Given the description of an element on the screen output the (x, y) to click on. 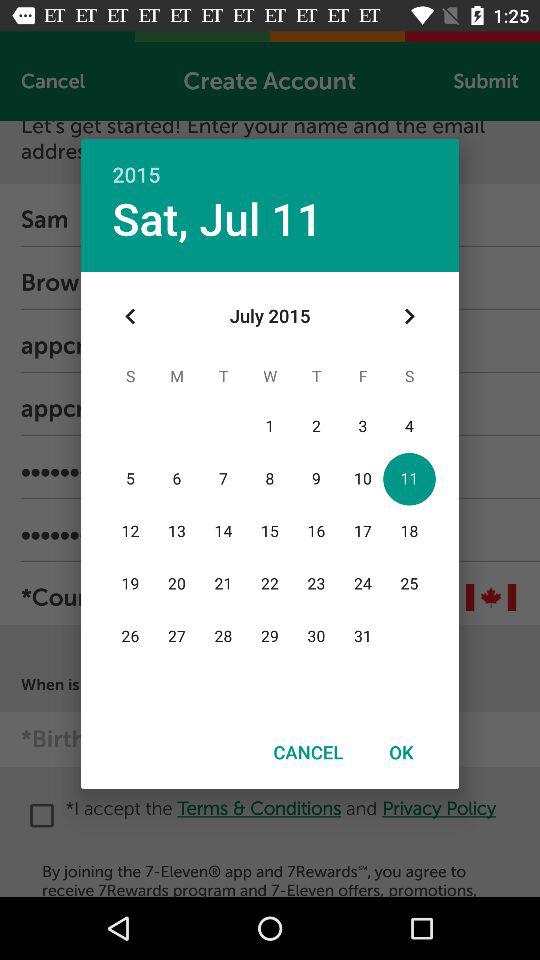
select icon at the top left corner (130, 316)
